Given the description of an element on the screen output the (x, y) to click on. 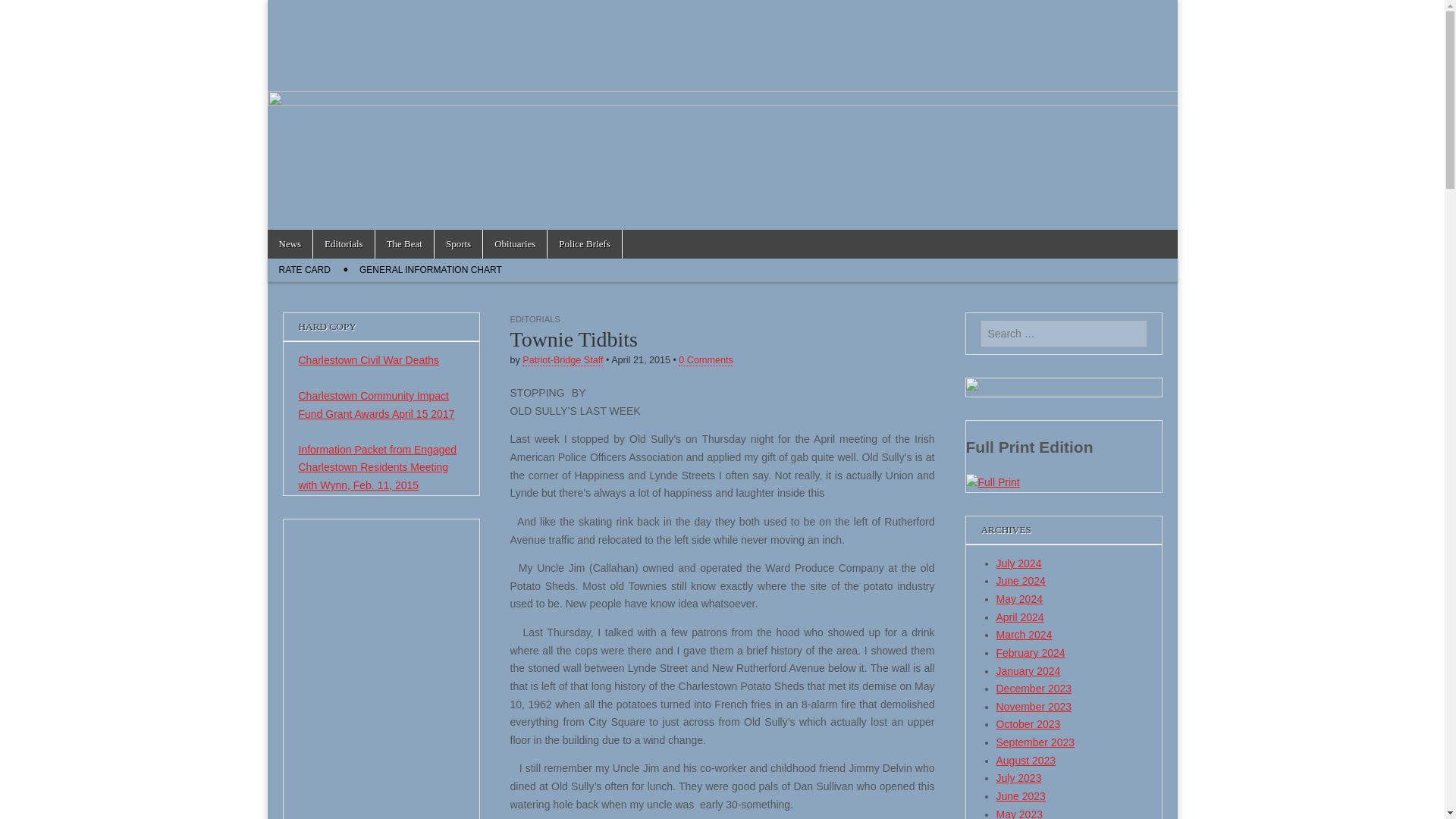
Obituaries (515, 244)
Search (23, 12)
Sports (457, 244)
GENERAL INFORMATION CHART (430, 269)
Police Briefs (584, 244)
Patriot-Bridge Staff (562, 360)
EDITORIALS (534, 318)
Posts by Patriot-Bridge Staff (562, 360)
The Beat (404, 244)
Editorials (343, 244)
Charlestown Community Impact Fund Grant Awards April 15 2017 (376, 404)
News (289, 244)
